Given the description of an element on the screen output the (x, y) to click on. 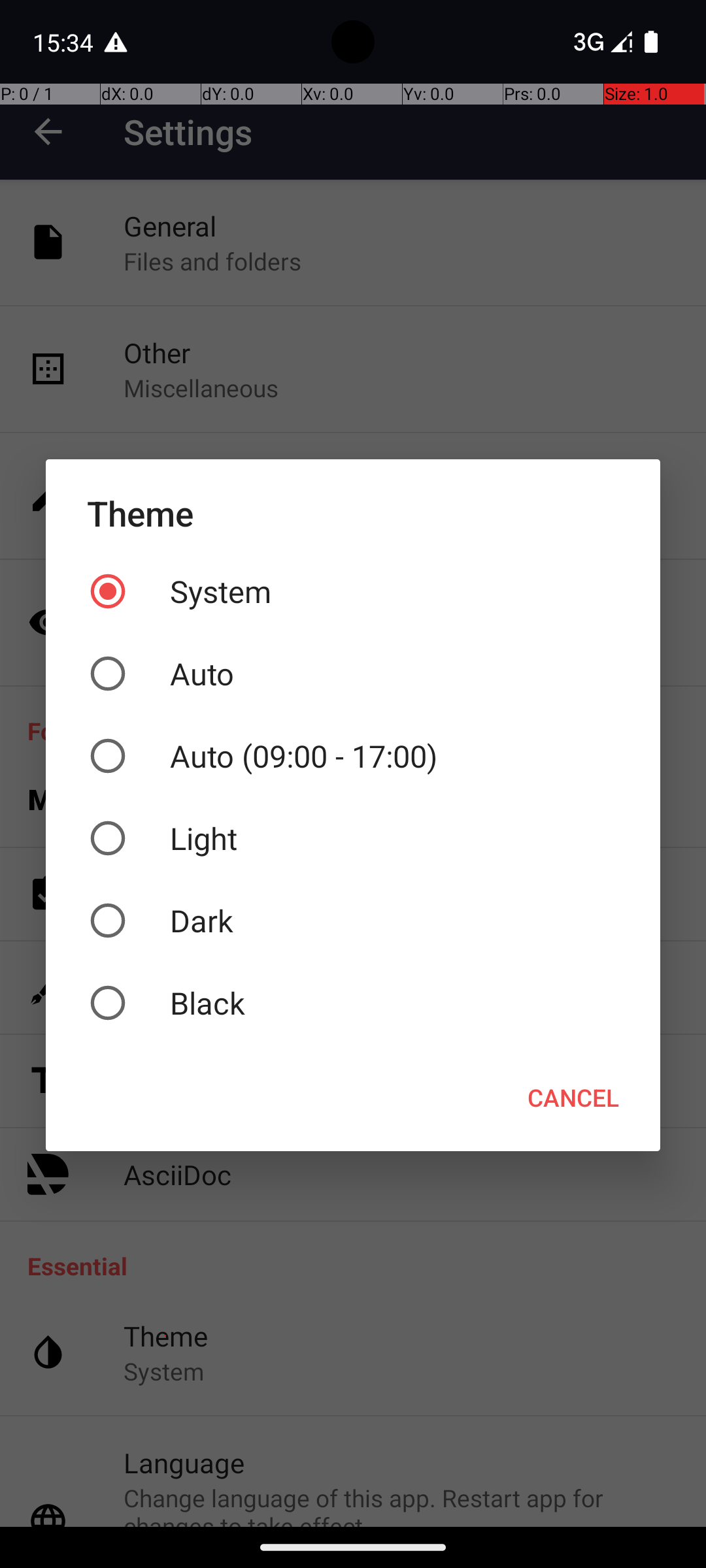
Theme Element type: android.widget.TextView (352, 513)
System Element type: android.widget.CheckedTextView (352, 591)
Auto Element type: android.widget.CheckedTextView (352, 673)
Auto (09:00 - 17:00) Element type: android.widget.CheckedTextView (352, 755)
Light Element type: android.widget.CheckedTextView (352, 838)
Dark Element type: android.widget.CheckedTextView (352, 920)
Black Element type: android.widget.CheckedTextView (352, 1002)
